Given the description of an element on the screen output the (x, y) to click on. 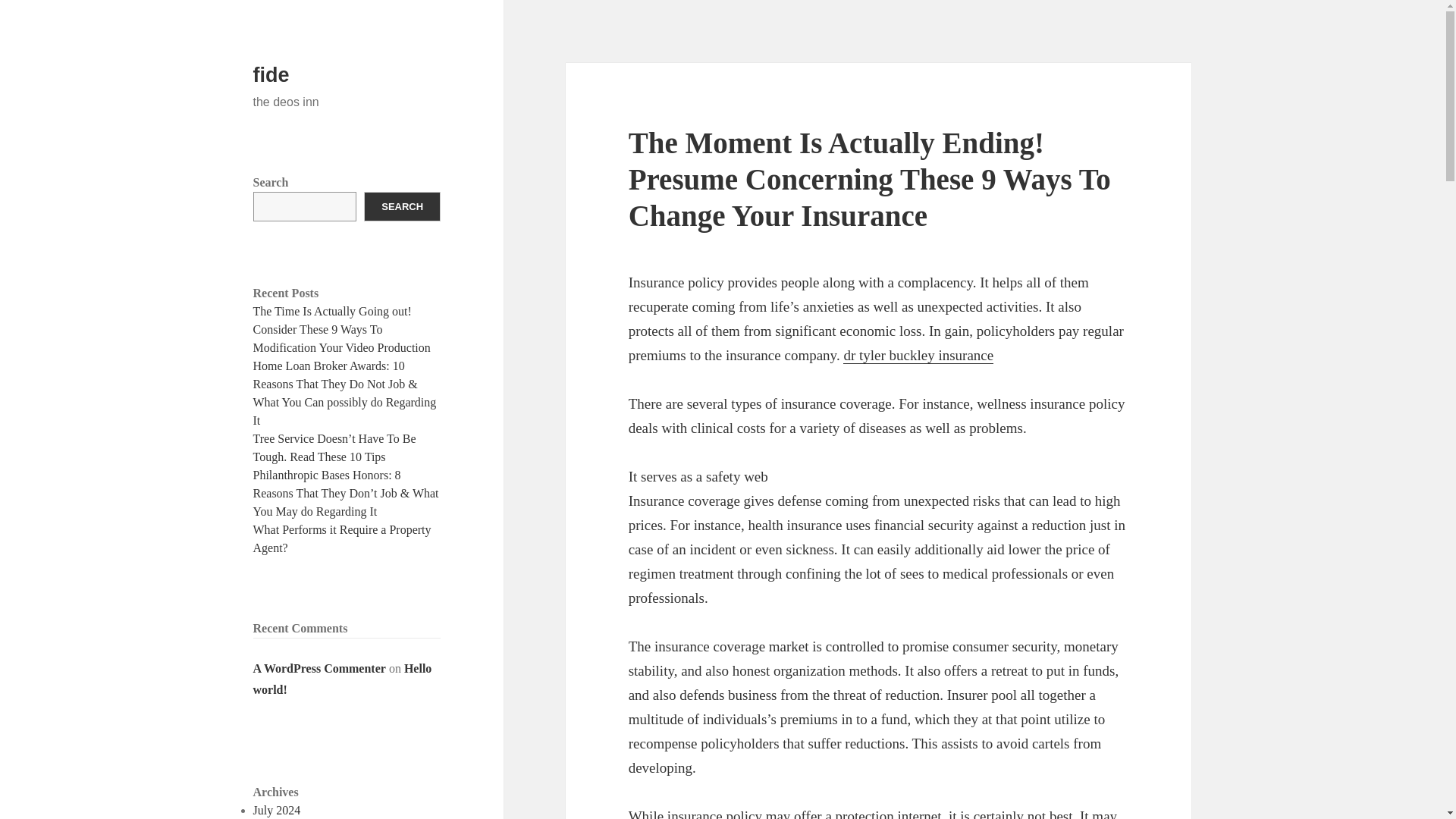
A WordPress Commenter (319, 667)
dr tyler buckley insurance (917, 355)
fide (271, 74)
Hello world! (342, 678)
SEARCH (402, 206)
What Performs it Require a Property Agent? (341, 538)
July 2024 (277, 809)
